Given the description of an element on the screen output the (x, y) to click on. 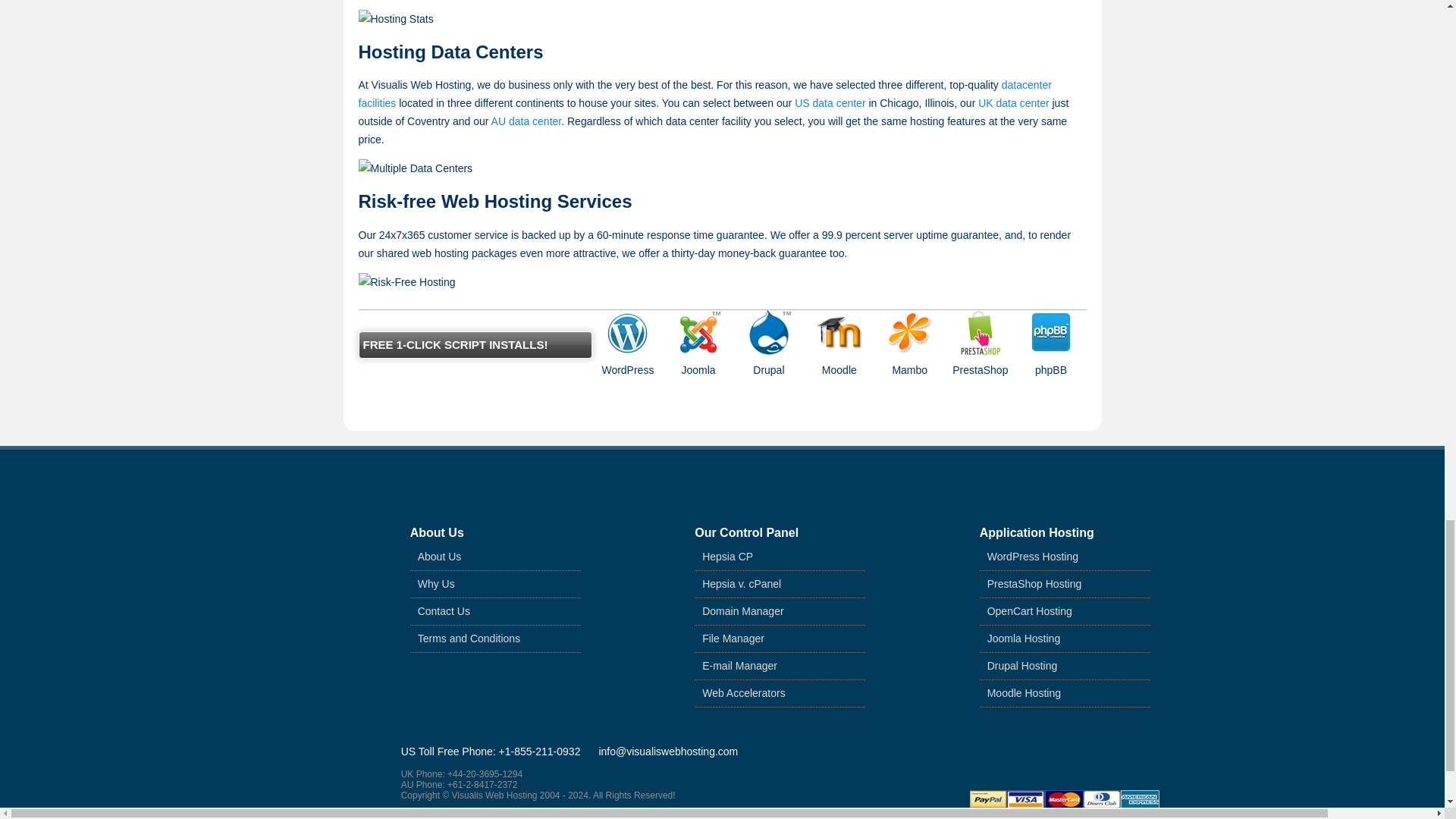
About Us (439, 556)
Terms and Conditions (468, 638)
datacenter facilities (704, 93)
Hosting Stats (395, 18)
Hepsia v. cPanel (740, 583)
phpBB (1050, 332)
Risk-Free Hosting (406, 281)
Moodle (838, 332)
PrestaShop (980, 332)
Hepsia CP (726, 556)
Joomla (697, 332)
Drupal (768, 332)
Contact Us (443, 610)
UK data center (1013, 102)
AU data center (527, 121)
